Given the description of an element on the screen output the (x, y) to click on. 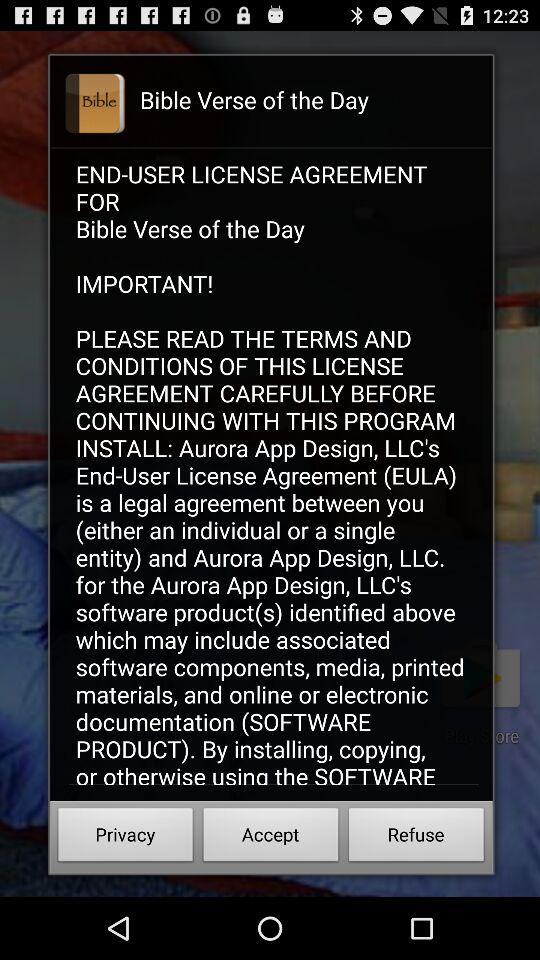
launch icon next to accept button (125, 837)
